Given the description of an element on the screen output the (x, y) to click on. 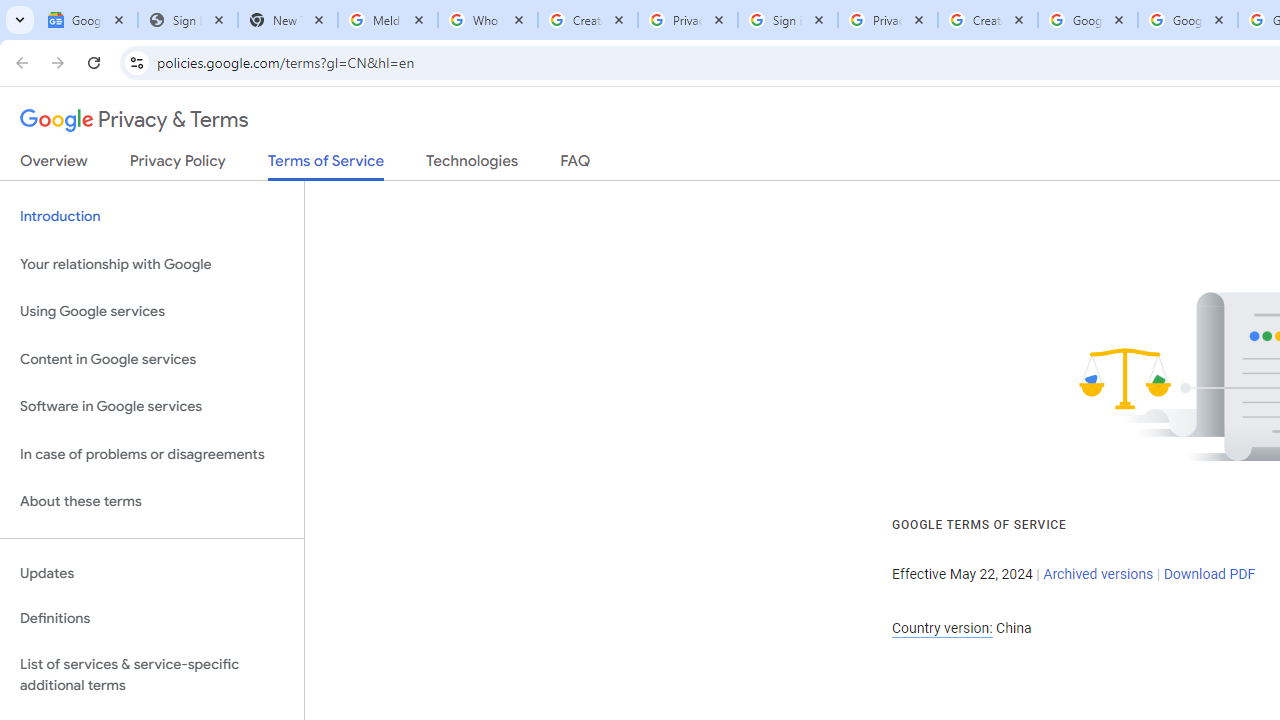
Your relationship with Google (152, 263)
Sign in - Google Accounts (788, 20)
